Given the description of an element on the screen output the (x, y) to click on. 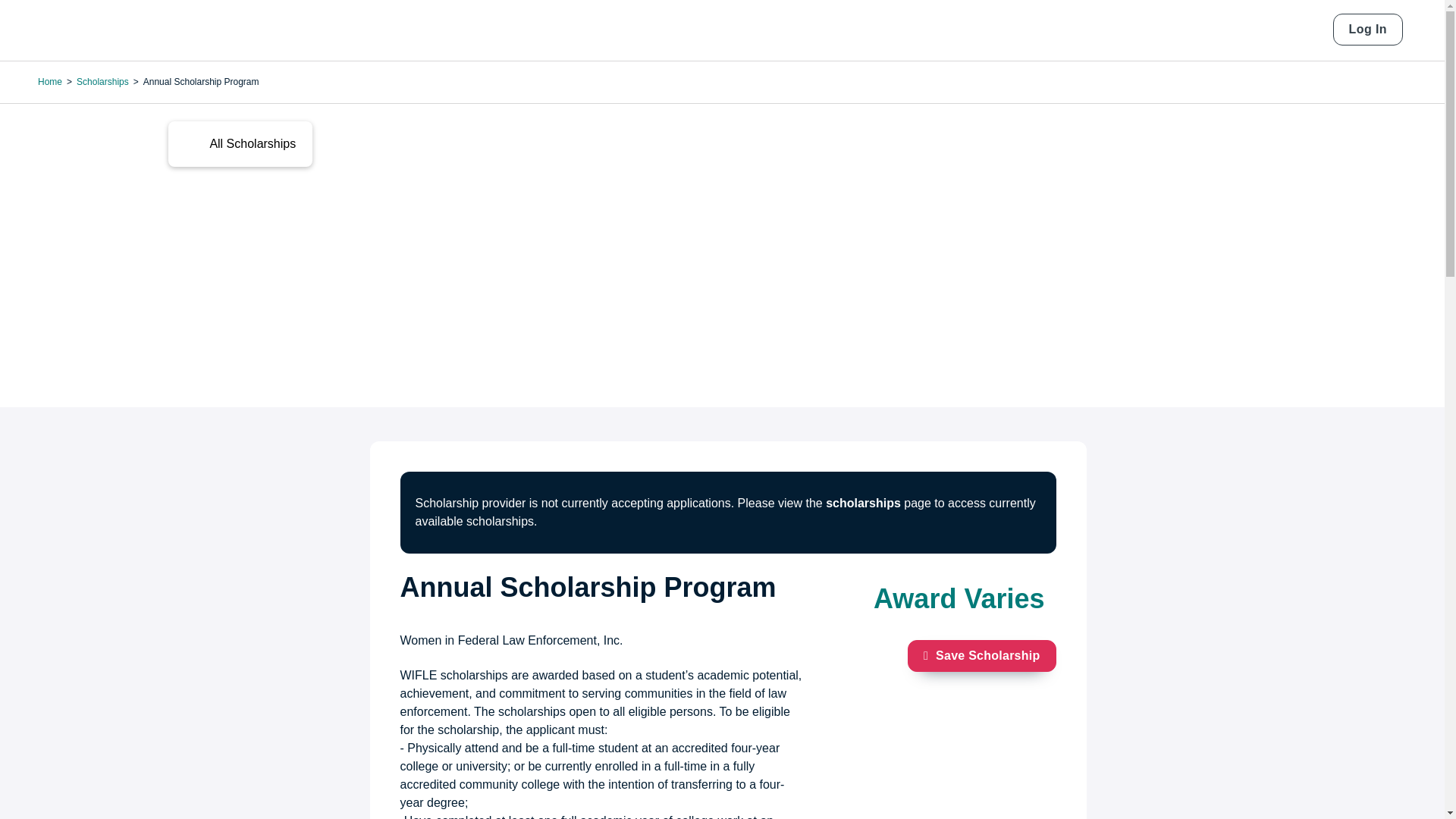
Home (90, 29)
